Given the description of an element on the screen output the (x, y) to click on. 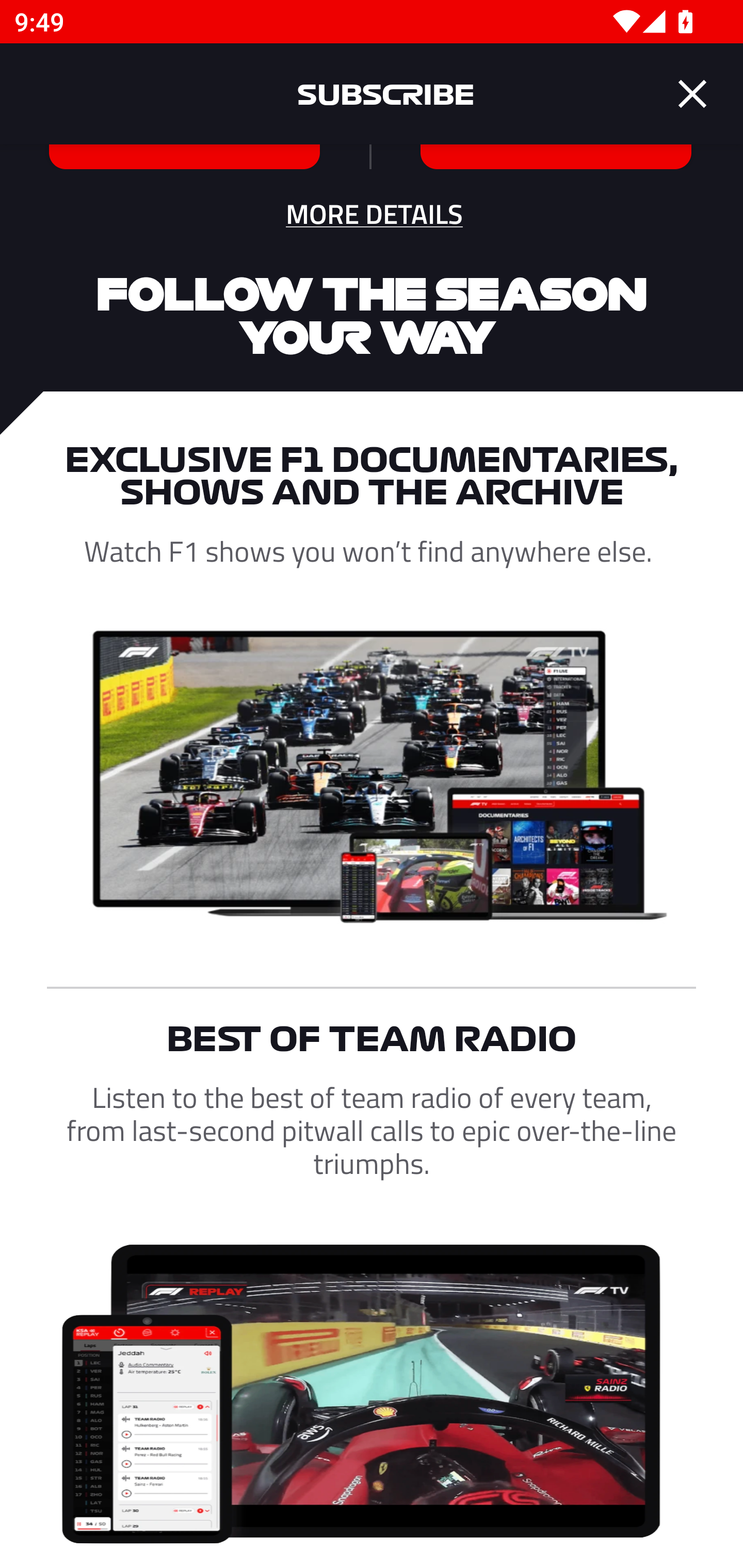
Close (692, 93)
